Given the description of an element on the screen output the (x, y) to click on. 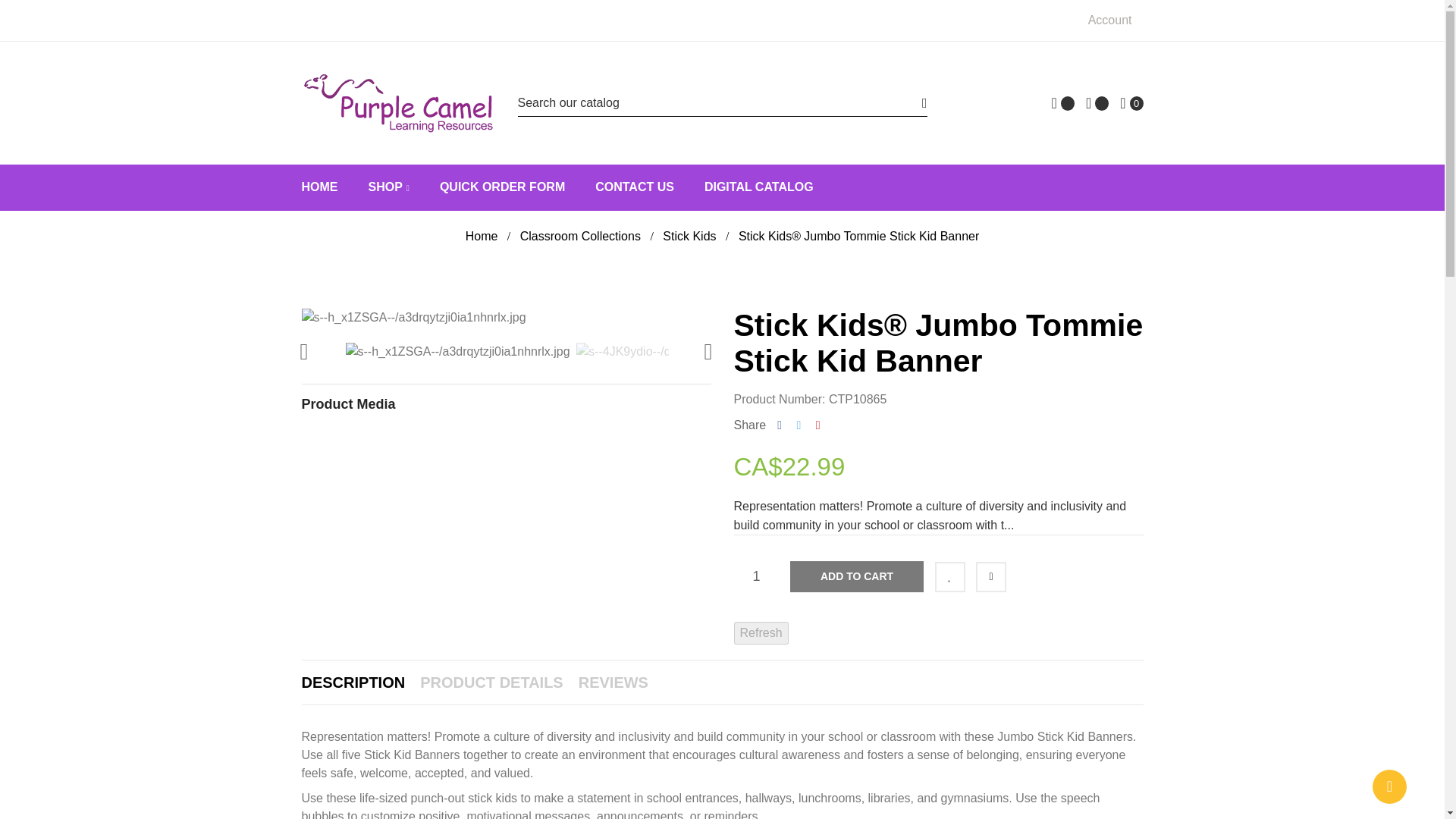
Pinterest (818, 425)
Account (1113, 20)
Share (779, 425)
SHOP (388, 187)
HOME (319, 186)
CONTACT US (634, 186)
Account (1113, 20)
Add to Compare (990, 576)
1 (755, 576)
Tweet (798, 425)
Add to Wishlist (949, 576)
Purple Camel Learning Resources (398, 102)
QUICK ORDER FORM (501, 186)
Refresh (761, 632)
